Given the description of an element on the screen output the (x, y) to click on. 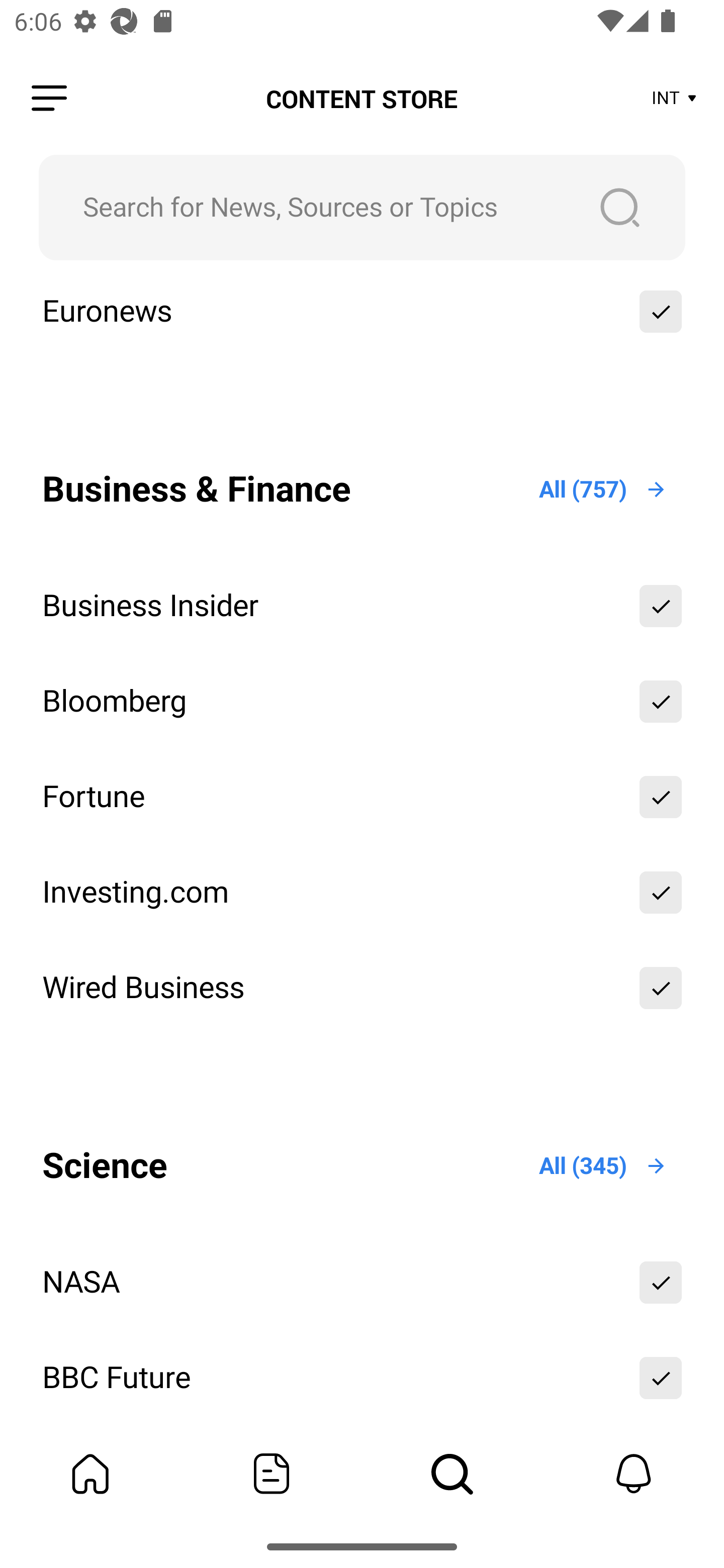
INT Store Area (674, 98)
Leading Icon (49, 98)
Search for News, Sources or Topics Search Button (361, 207)
Euronews Add To My Bundle (361, 311)
Add To My Bundle (660, 311)
All (757) Open All Icon (603, 488)
Business Insider Add To My Bundle (361, 605)
Add To My Bundle (660, 605)
Bloomberg Add To My Bundle (361, 701)
Add To My Bundle (660, 701)
Fortune Add To My Bundle (361, 796)
Add To My Bundle (660, 796)
Investing.com Add To My Bundle (361, 891)
Add To My Bundle (660, 891)
Wired Business Add To My Bundle (361, 987)
Add To My Bundle (660, 987)
All (345) Open All Icon (603, 1166)
NASA Add To My Bundle (361, 1282)
Add To My Bundle (660, 1282)
BBC Future Add To My Bundle (361, 1377)
Add To My Bundle (660, 1377)
My Bundle (90, 1473)
Featured (271, 1473)
Notifications (633, 1473)
